Given the description of an element on the screen output the (x, y) to click on. 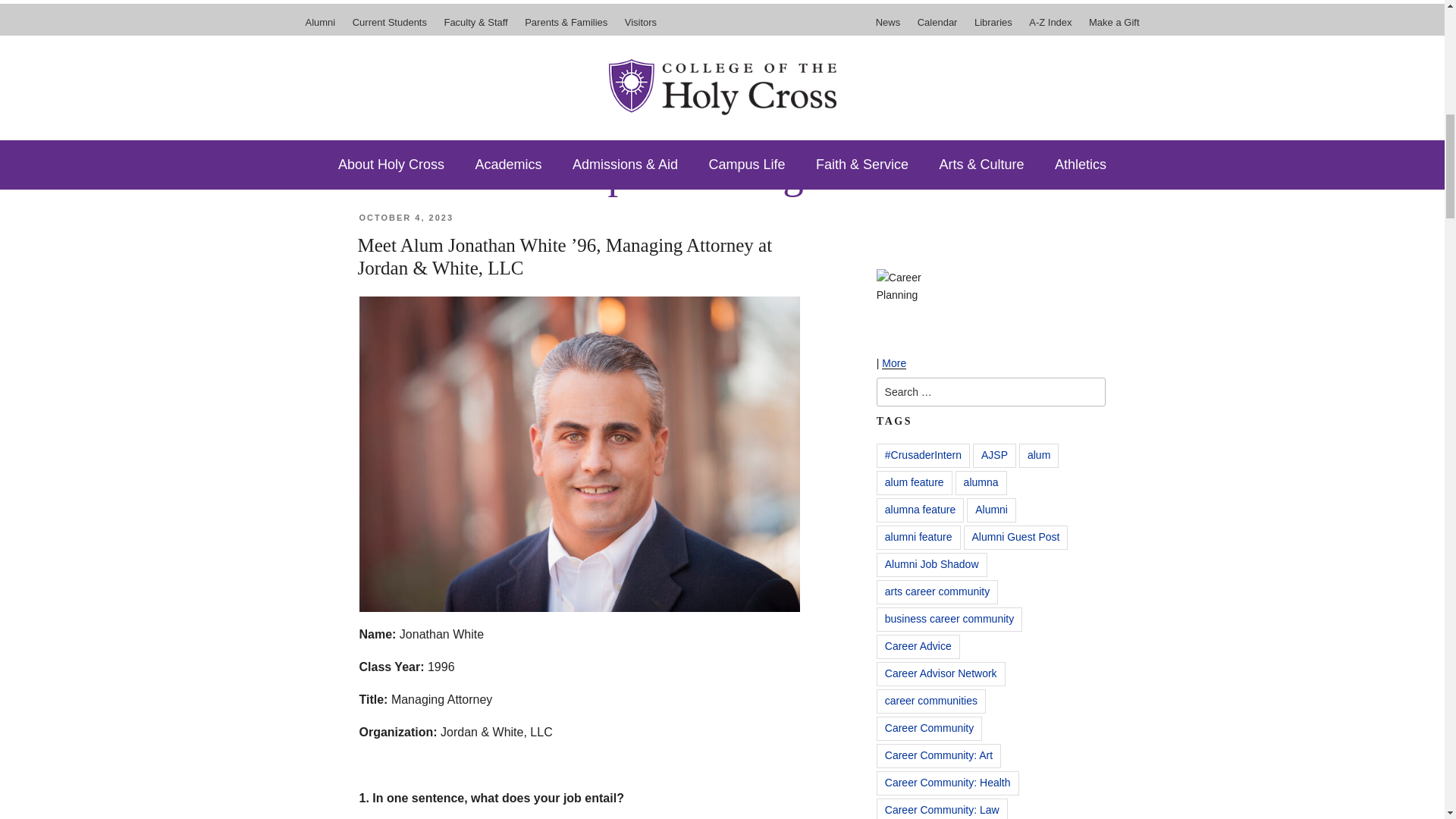
Career Planning (915, 310)
